Given the description of an element on the screen output the (x, y) to click on. 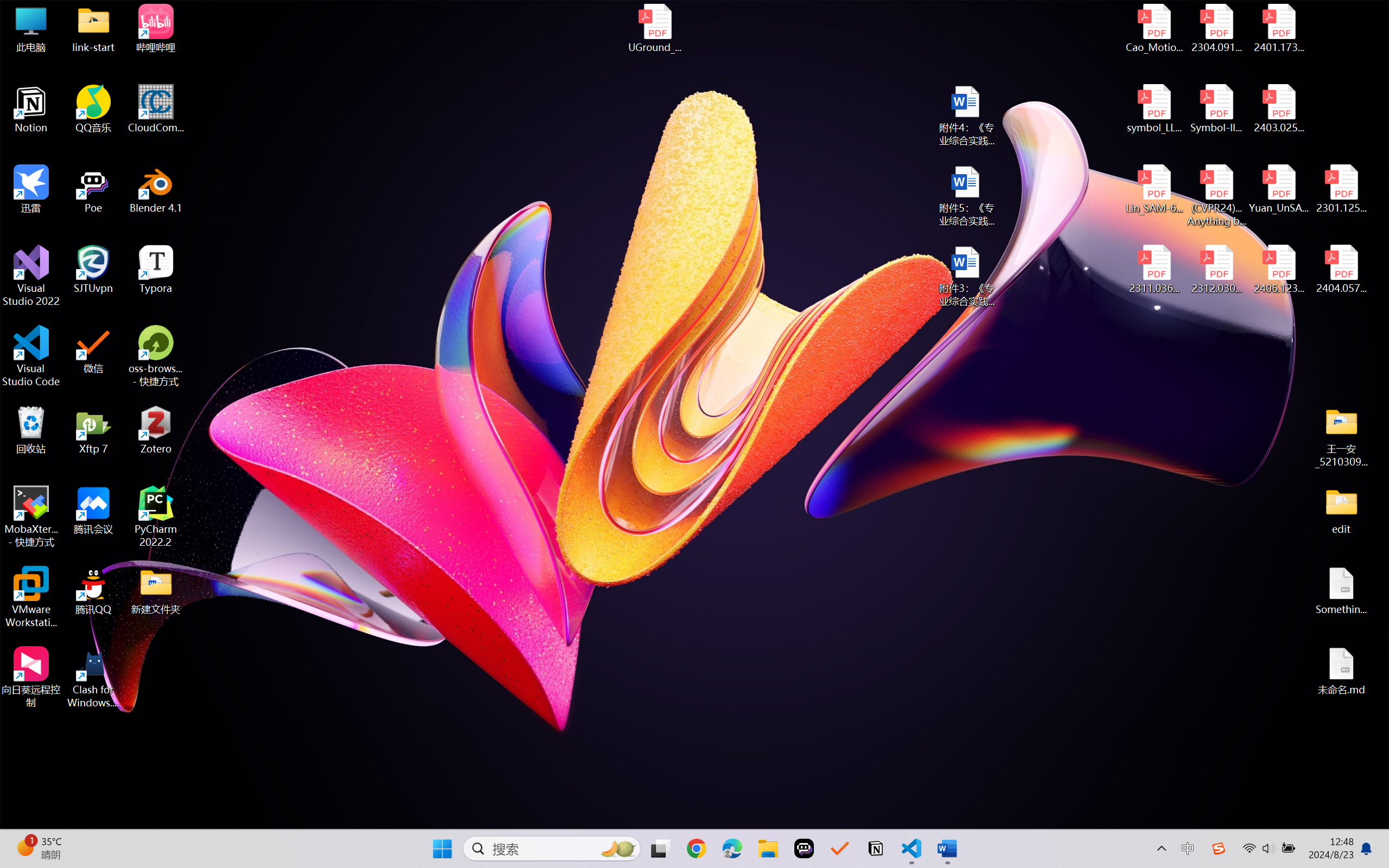
Symbol-llm-v2.pdf (1216, 109)
symbol_LLM.pdf (1154, 109)
2404.05719v1.pdf (1340, 269)
